Given the description of an element on the screen output the (x, y) to click on. 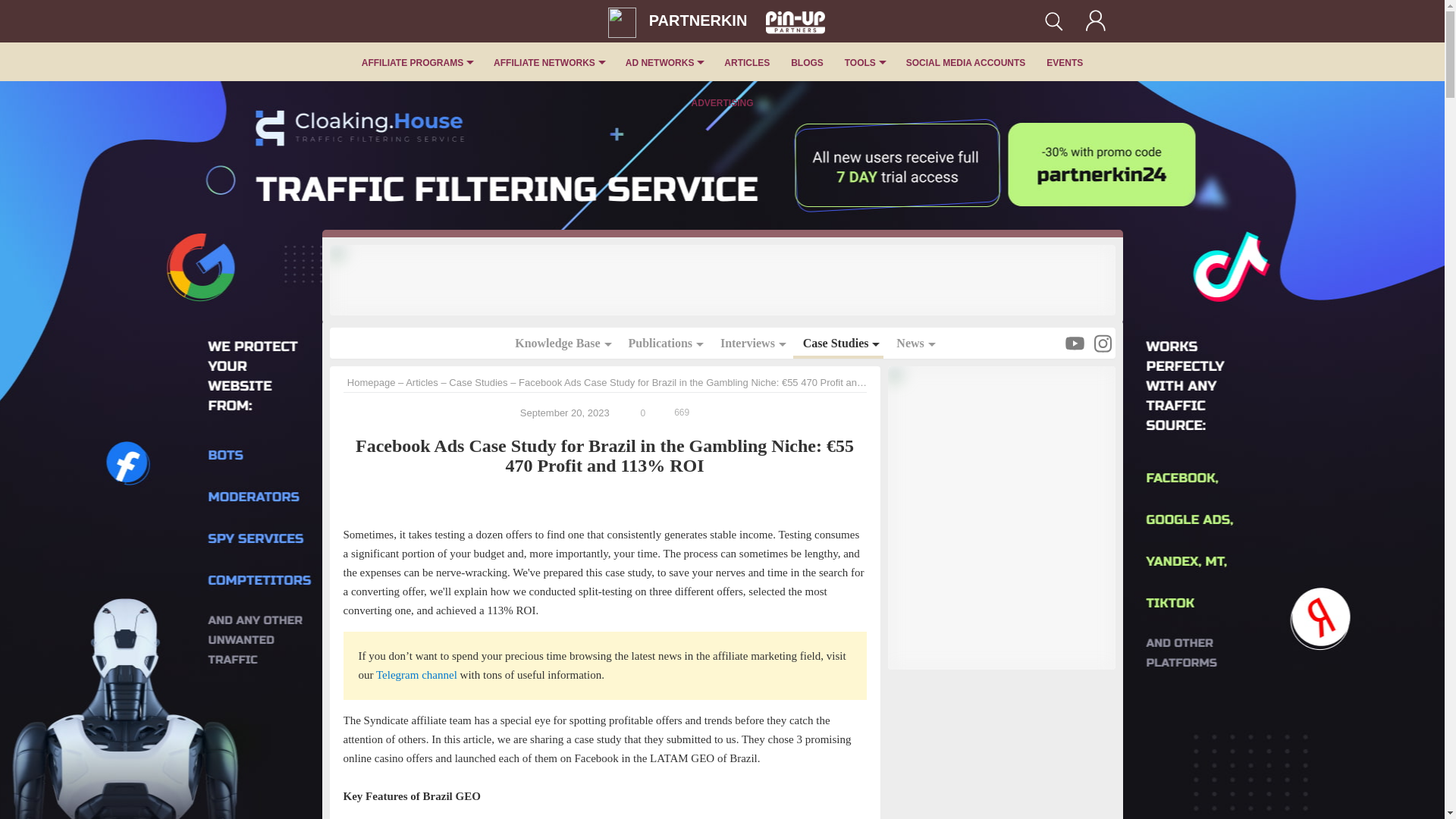
AFFILIATE PROGRAMS (416, 62)
PIN-UP Partners (787, 18)
Partnerkin (622, 22)
PARTNERKIN (678, 21)
